Given the description of an element on the screen output the (x, y) to click on. 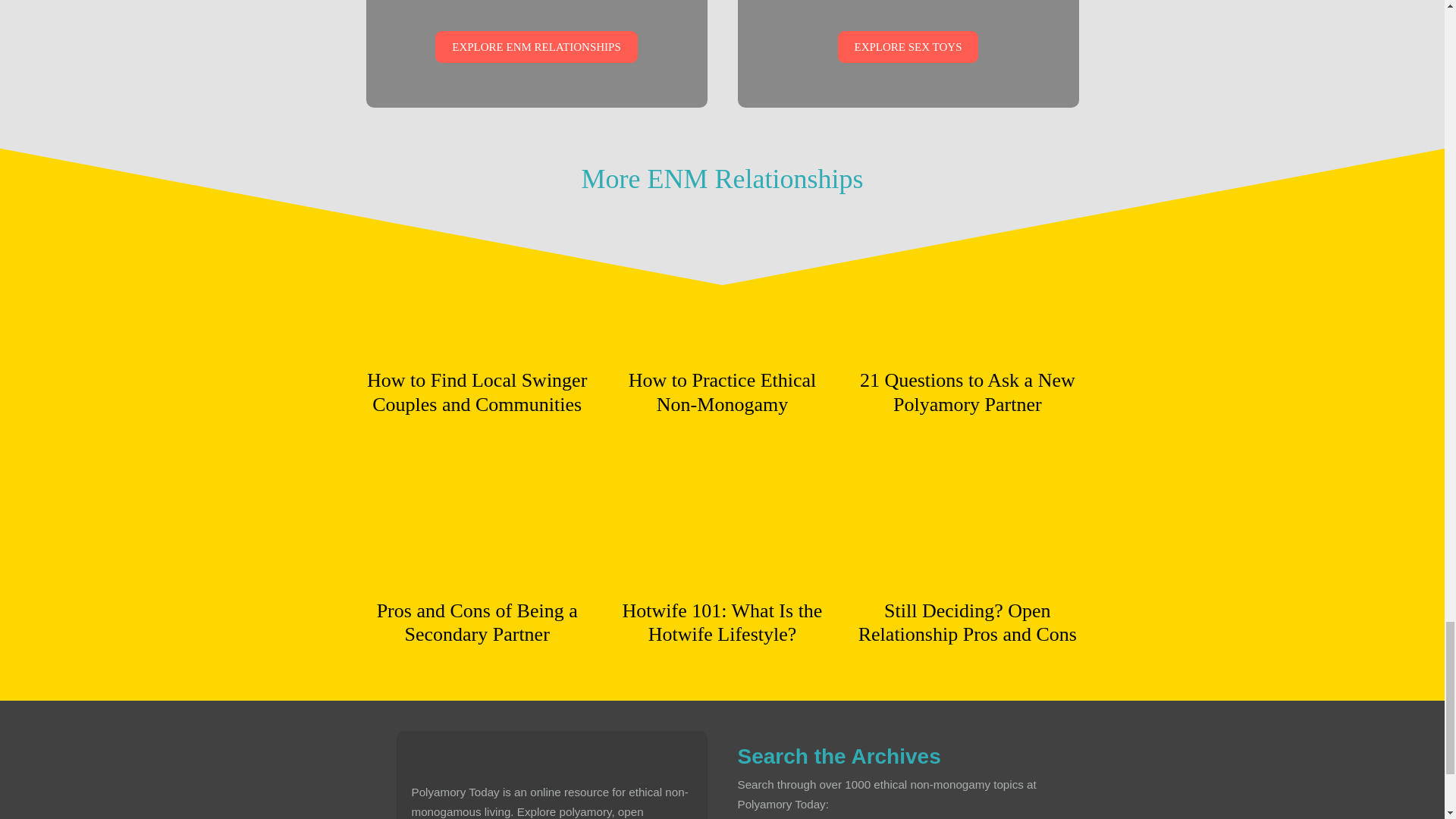
EXPLORE SEX TOYS (908, 47)
Pros and Cons of Being a Secondary Partner (476, 622)
EXPLORE ENM RELATIONSHIPS (536, 47)
How to Find Local Swinger Couples and Communities (476, 391)
How to Find Local Swinger Couples and Communities (476, 347)
How to Practice Ethical Non-Monogamy (721, 391)
21 Questions to Ask a New Polyamory Partner (967, 391)
